Given the description of an element on the screen output the (x, y) to click on. 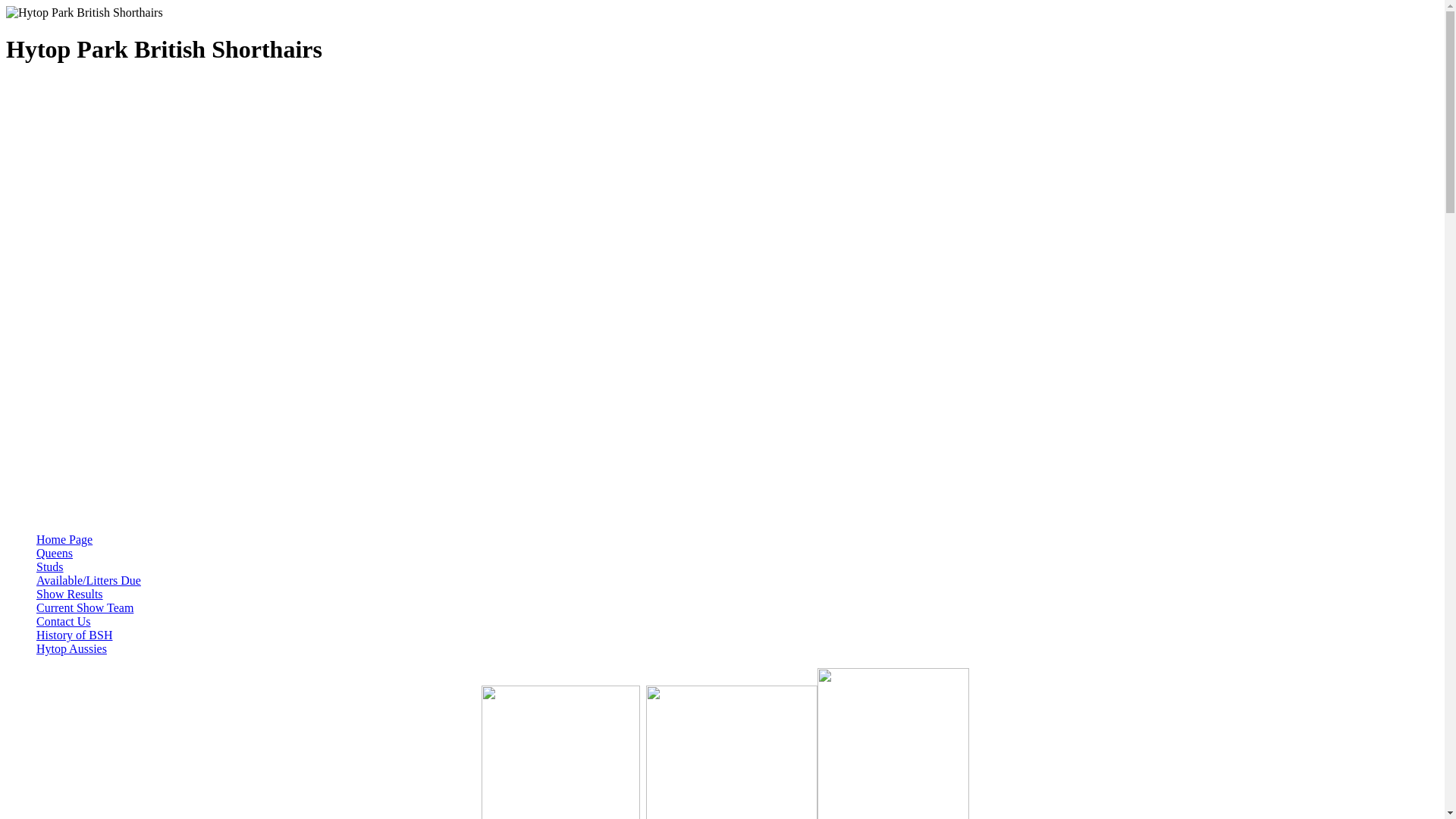
Show Results Element type: text (69, 593)
Studs Element type: text (49, 566)
Home Page Element type: text (64, 539)
History of BSH Element type: text (74, 634)
Hytop Aussies Element type: text (71, 648)
Queens Element type: text (54, 552)
Available/Litters Due Element type: text (88, 580)
Contact Us Element type: text (63, 621)
Current Show Team Element type: text (84, 607)
